Given the description of an element on the screen output the (x, y) to click on. 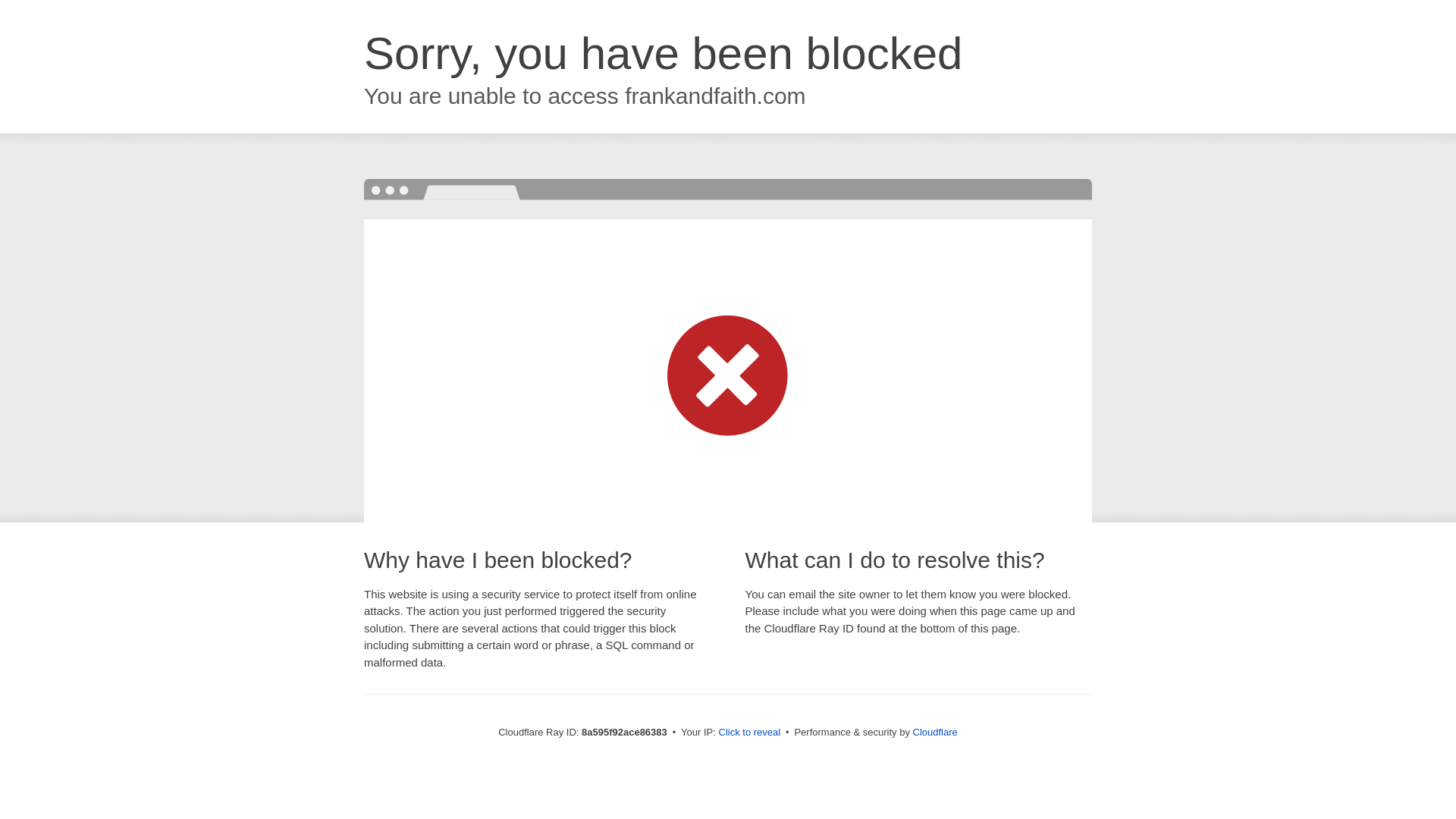
Click to reveal (749, 732)
Cloudflare (935, 731)
